Given the description of an element on the screen output the (x, y) to click on. 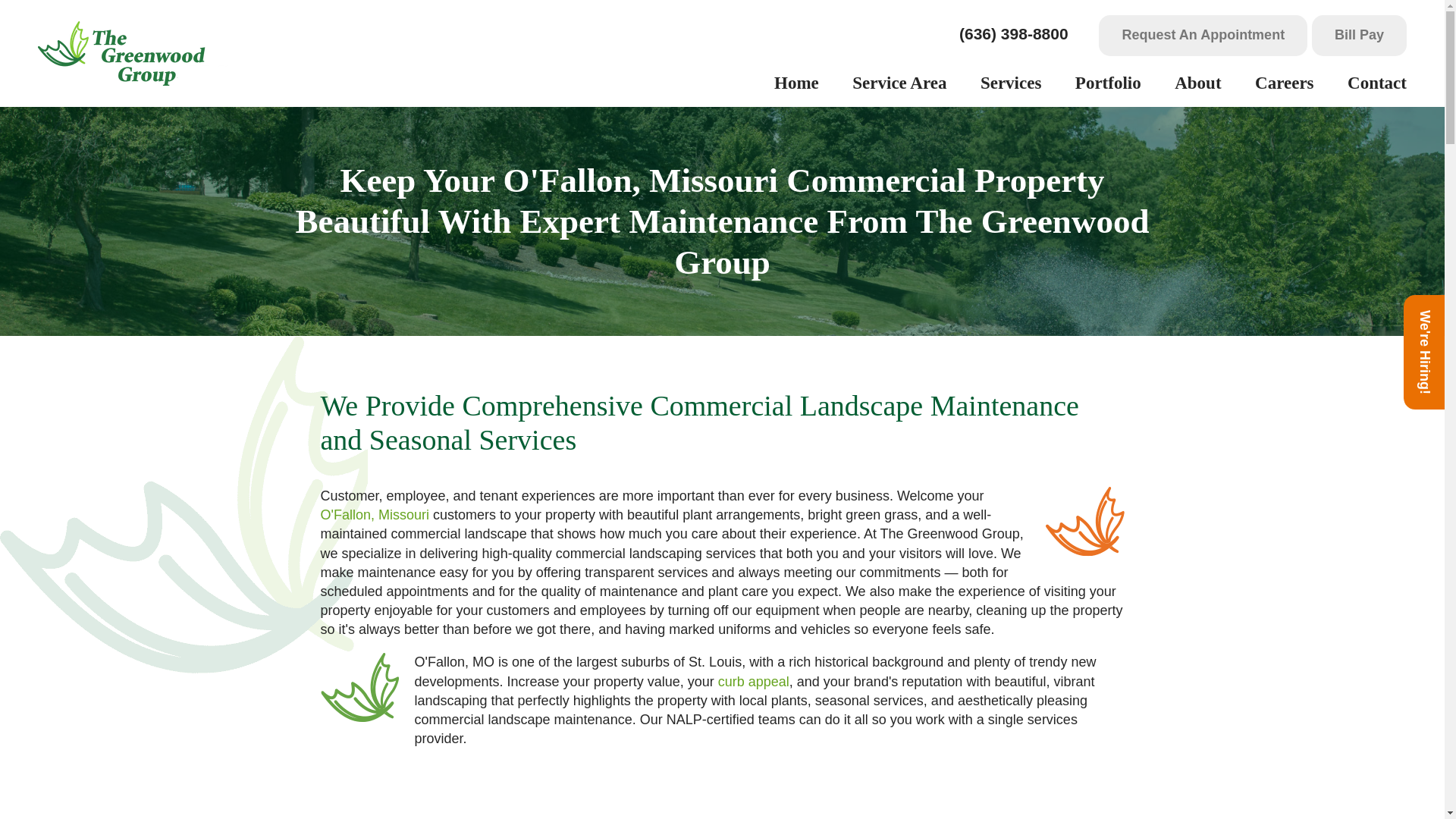
Portfolio (1107, 82)
Careers (1283, 82)
Services (1011, 82)
About (1197, 82)
Home (796, 82)
Contact (1377, 82)
Service Area (898, 82)
